Given the description of an element on the screen output the (x, y) to click on. 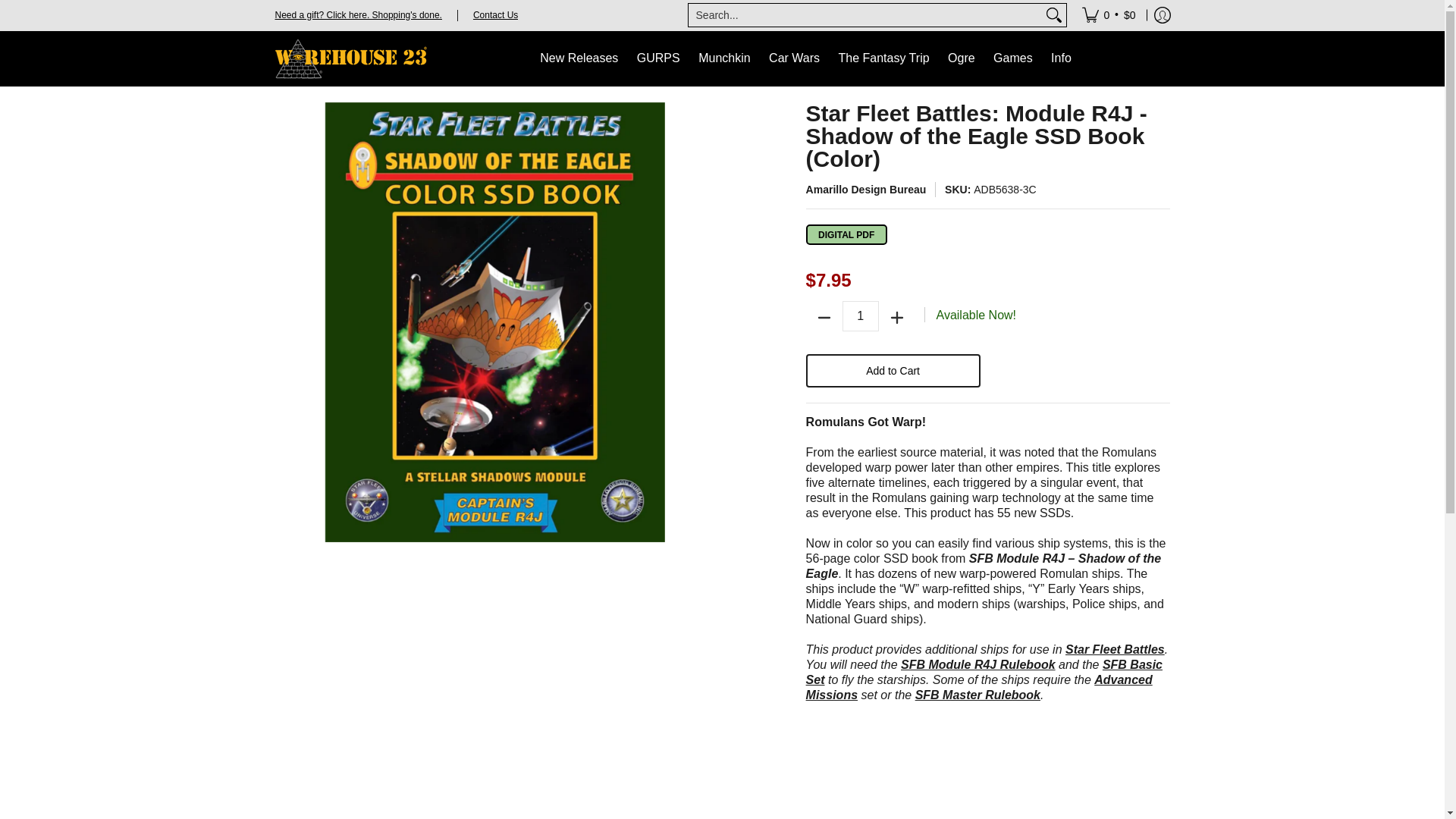
Info (1060, 58)
Munchkin (723, 58)
Car Wars (794, 58)
Log in (1161, 15)
Games (1013, 58)
The Fantasy Trip (884, 58)
Ogre (961, 58)
Games (1013, 58)
Car Wars (794, 58)
Skip to Main Content (2, 9)
Contact Us (495, 14)
Warehouse 23 (350, 58)
Need a gift? Click here. Shopping's done. (358, 14)
The Fantasy Trip (884, 58)
Warehouse 23 Gift Certificate (358, 14)
